Given the description of an element on the screen output the (x, y) to click on. 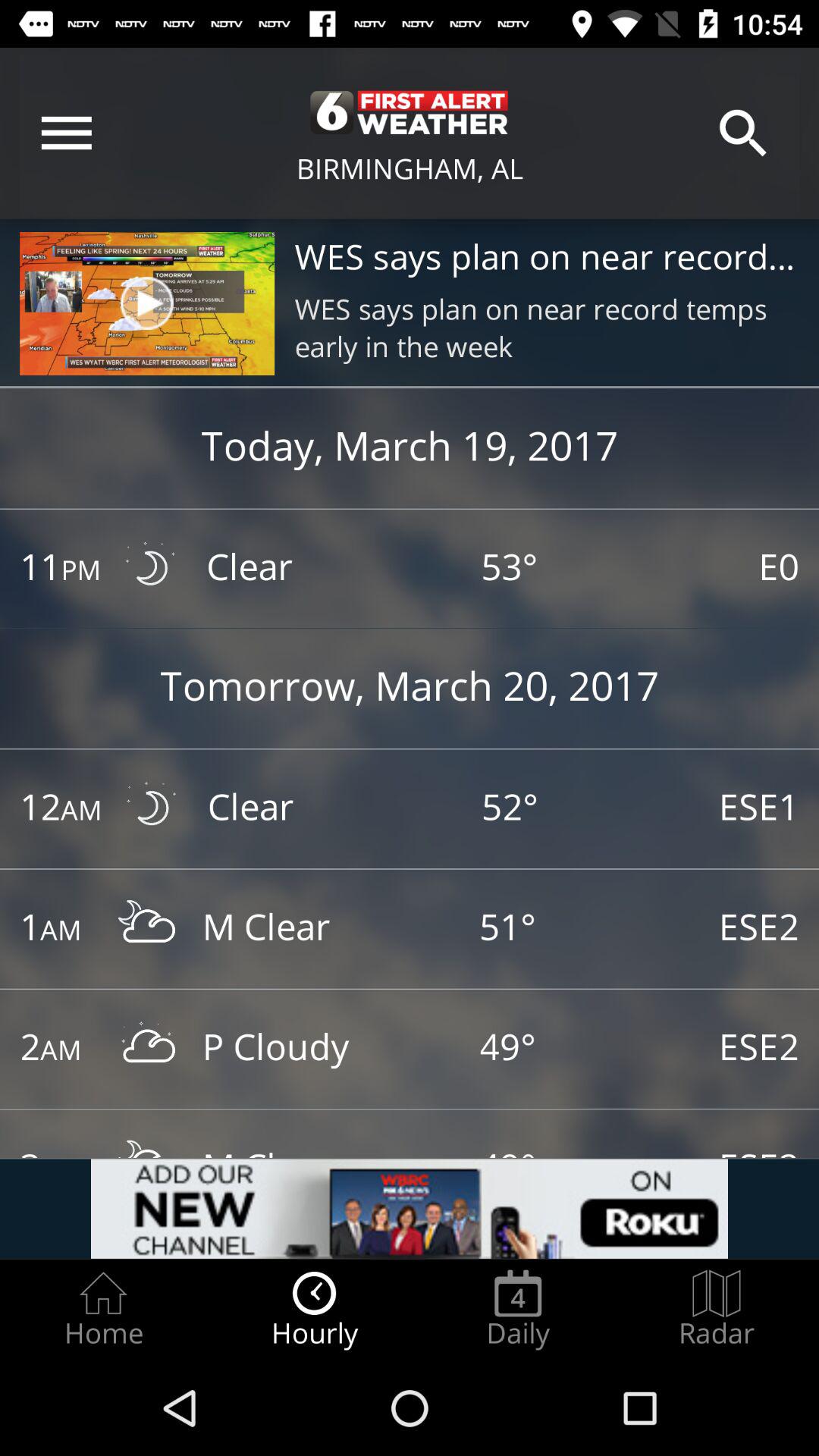
tap item next to radar item (518, 1309)
